Given the description of an element on the screen output the (x, y) to click on. 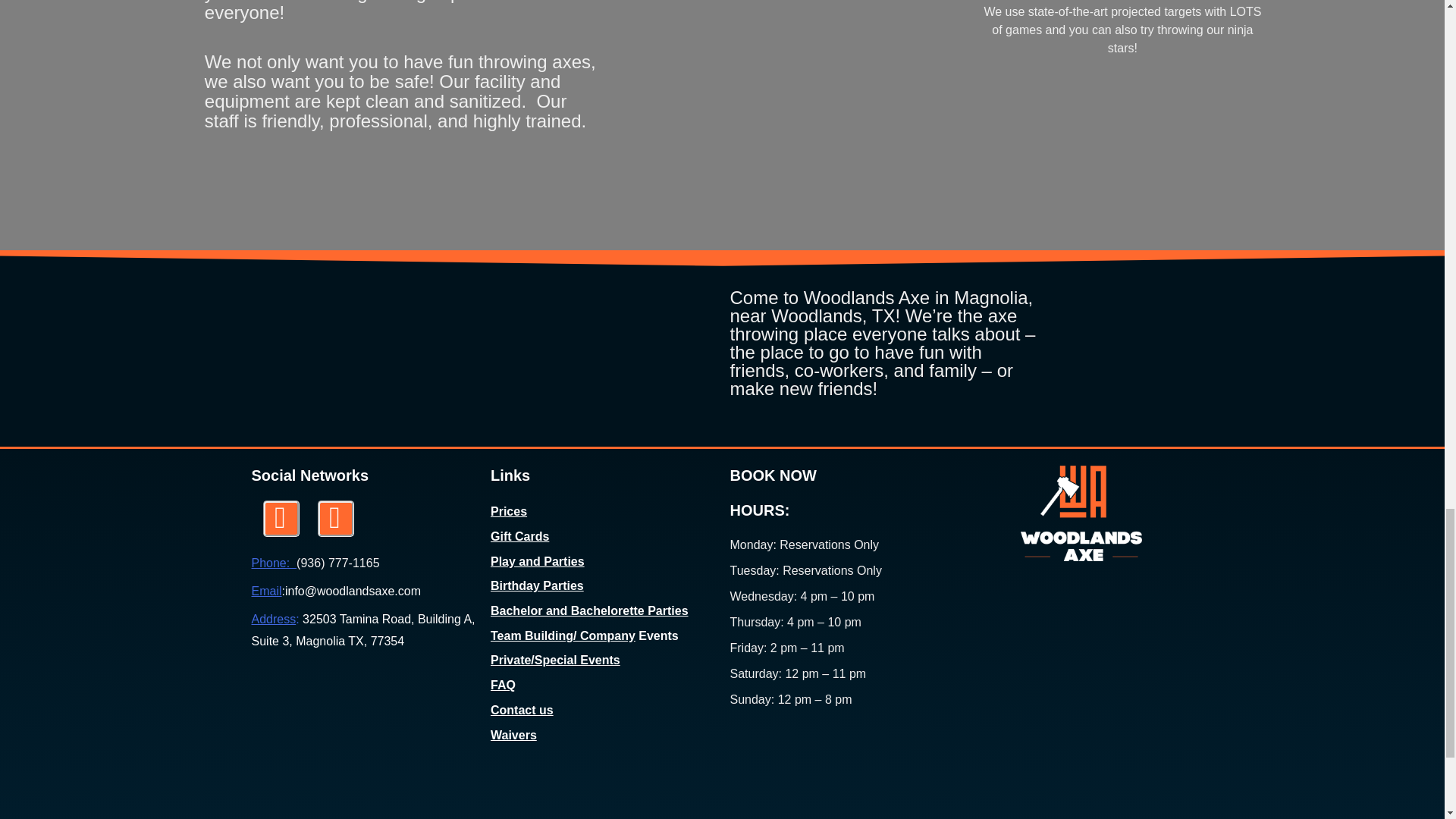
Prices (508, 511)
Facebook (335, 518)
Instagram (280, 518)
Address: (275, 618)
Phone:   (274, 562)
